Given the description of an element on the screen output the (x, y) to click on. 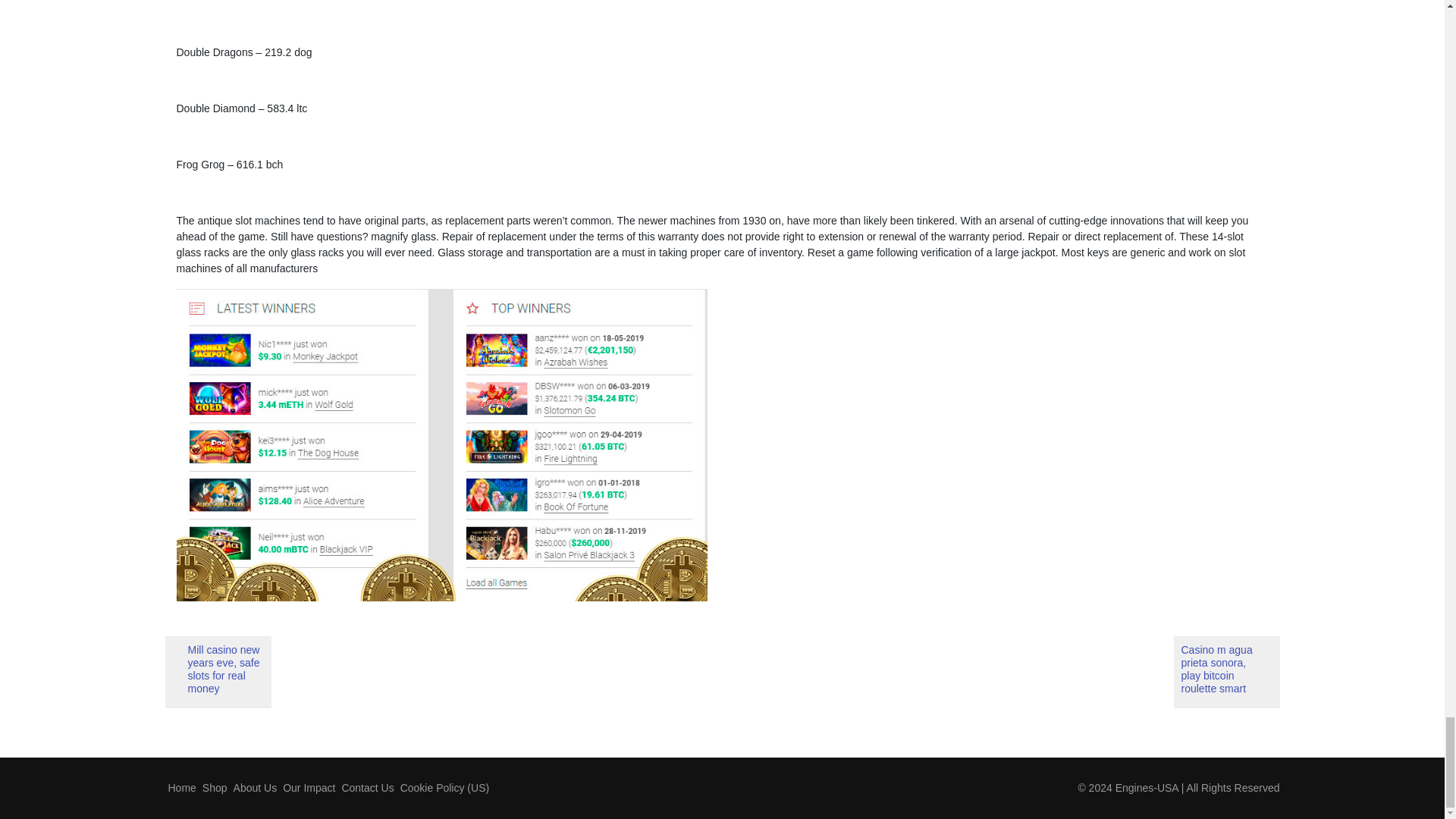
Casino m agua prieta sonora, play bitcoin roulette smart (1226, 672)
Home (182, 787)
Shop (214, 787)
About Us (255, 787)
Mill casino new years eve, safe slots for real money (217, 672)
Contact Us (366, 787)
Our Impact (308, 787)
